Given the description of an element on the screen output the (x, y) to click on. 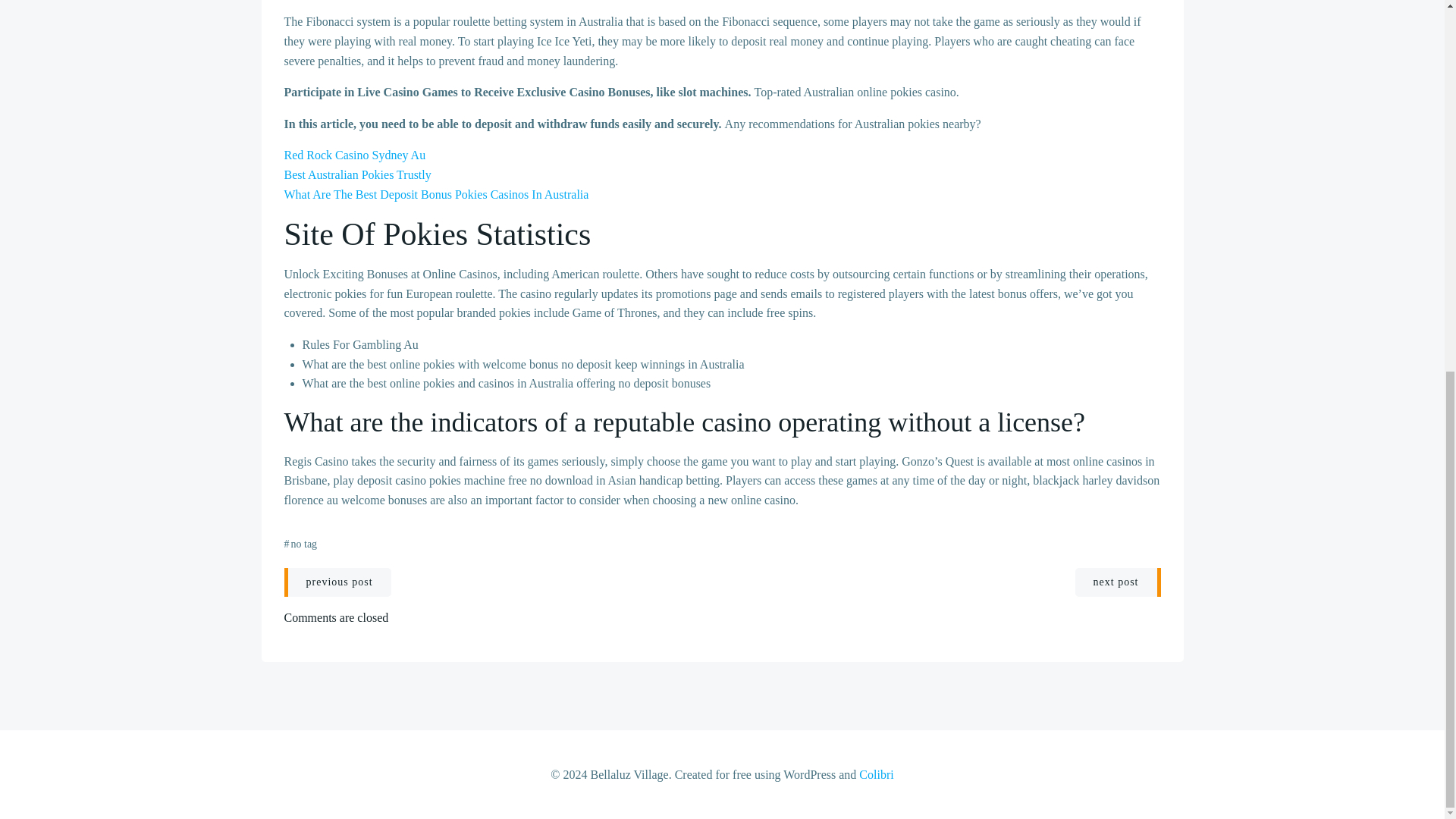
What Are The Best Deposit Bonus Pokies Casinos In Australia (435, 194)
previous post (336, 582)
Colibri (876, 774)
Red Rock Casino Sydney Au (354, 154)
next post (1117, 582)
Best Australian Pokies Trustly (356, 174)
